Given the description of an element on the screen output the (x, y) to click on. 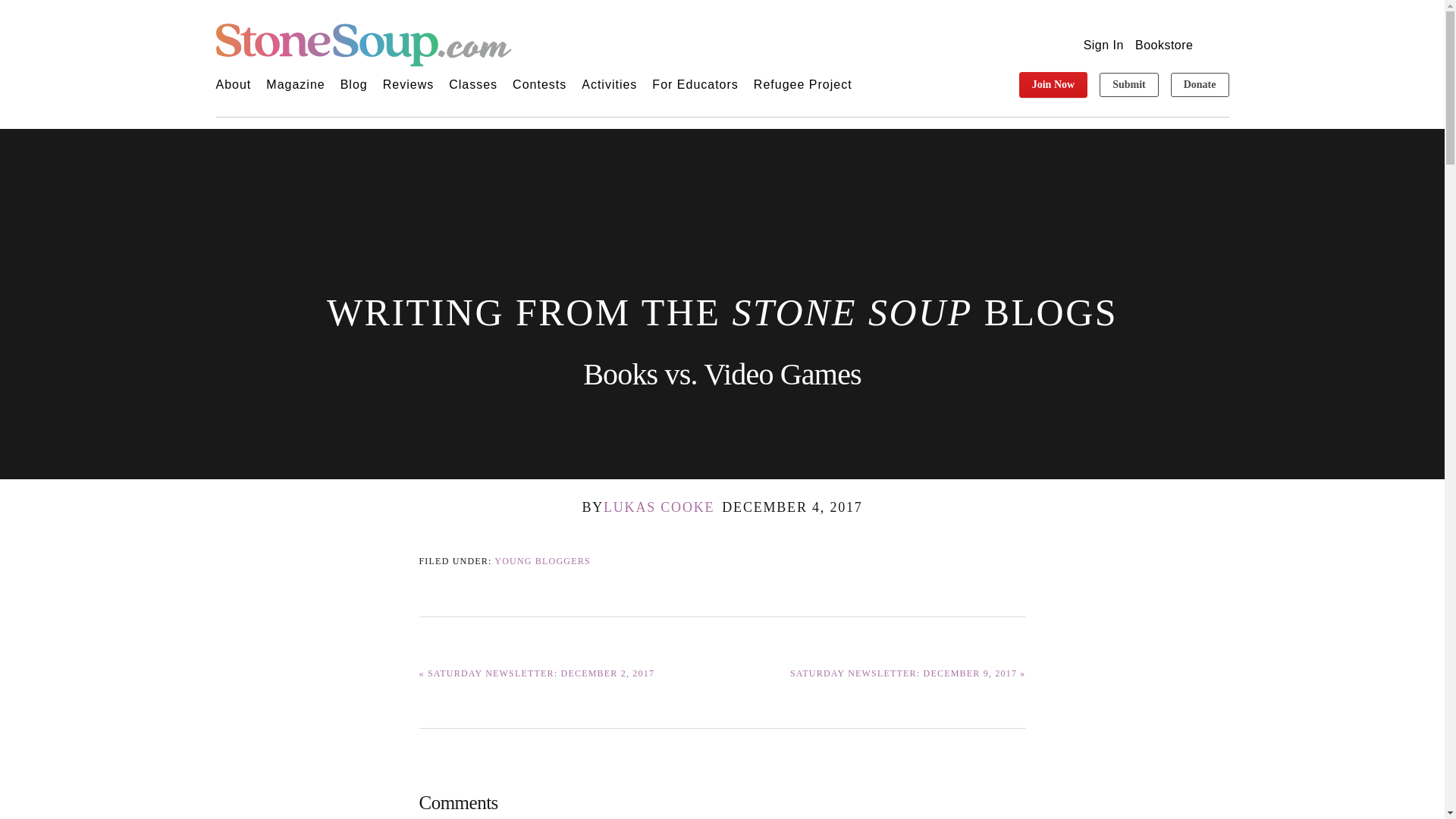
Blog (354, 85)
Join Now (1053, 84)
Sign In (1103, 44)
For Educators (695, 85)
Magazine (295, 85)
Submit (1128, 84)
Activities (608, 85)
Bookstore (1164, 44)
About (232, 85)
